Given the description of an element on the screen output the (x, y) to click on. 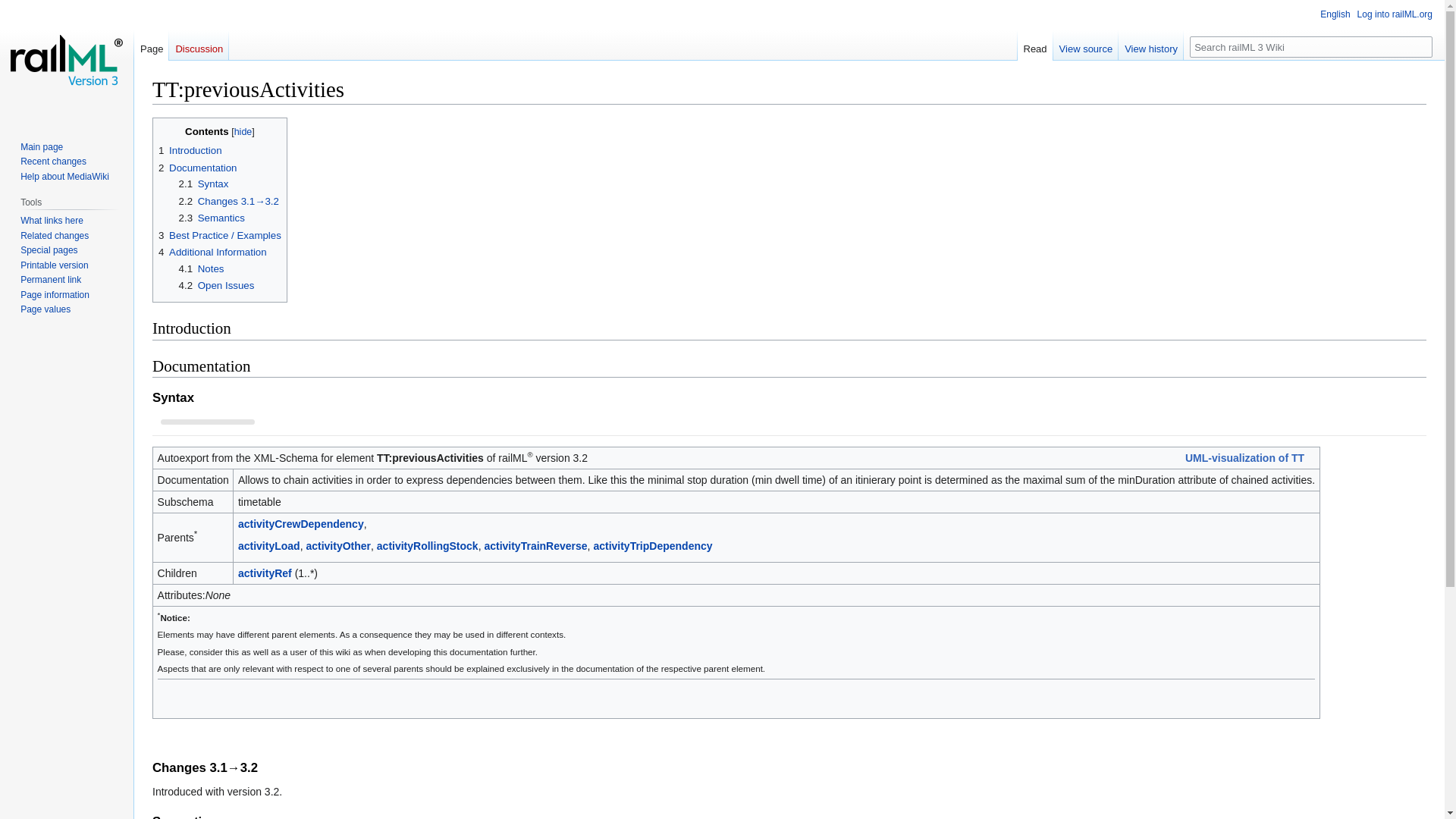
Log into railML.org (1394, 14)
TT:previousActivities (430, 458)
TT:activityRef (265, 573)
Go (1420, 46)
1 Introduction (190, 150)
TT:activityLoad (268, 545)
activityOther (338, 545)
View source (1085, 45)
4.2 Open Issues (216, 285)
